Given the description of an element on the screen output the (x, y) to click on. 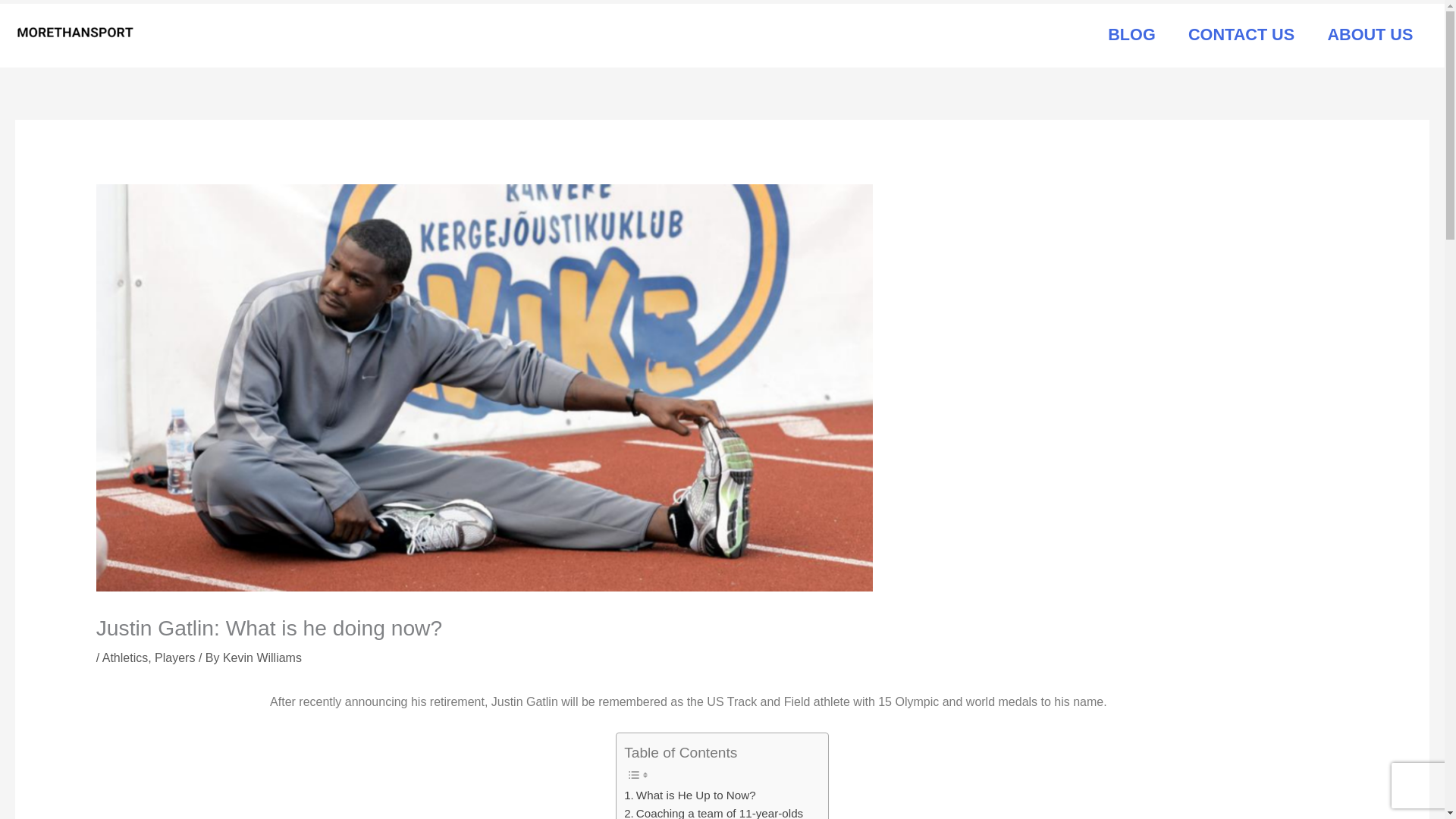
Players (174, 657)
BLOG (1132, 34)
Coaching a team of 11-year-olds (713, 811)
View all posts by Kevin Williams (261, 657)
What is He Up to Now? (689, 795)
ABOUT US (1370, 34)
What is He Up to Now? (689, 795)
CONTACT US (1241, 34)
Coaching a team of 11-year-olds (713, 811)
Athletics (124, 657)
Kevin Williams (261, 657)
